Given the description of an element on the screen output the (x, y) to click on. 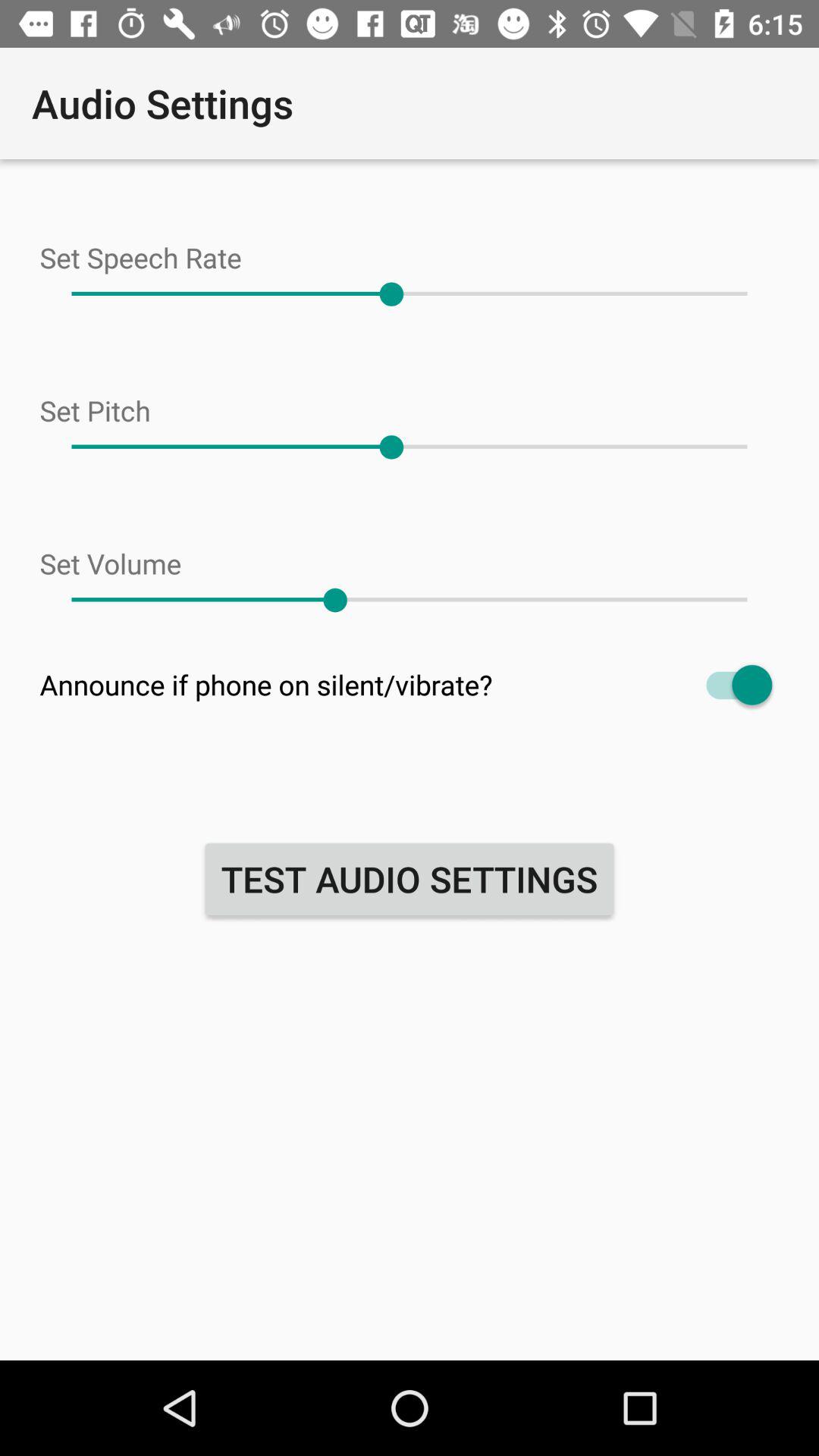
choose item above the test audio settings item (409, 685)
